Given the description of an element on the screen output the (x, y) to click on. 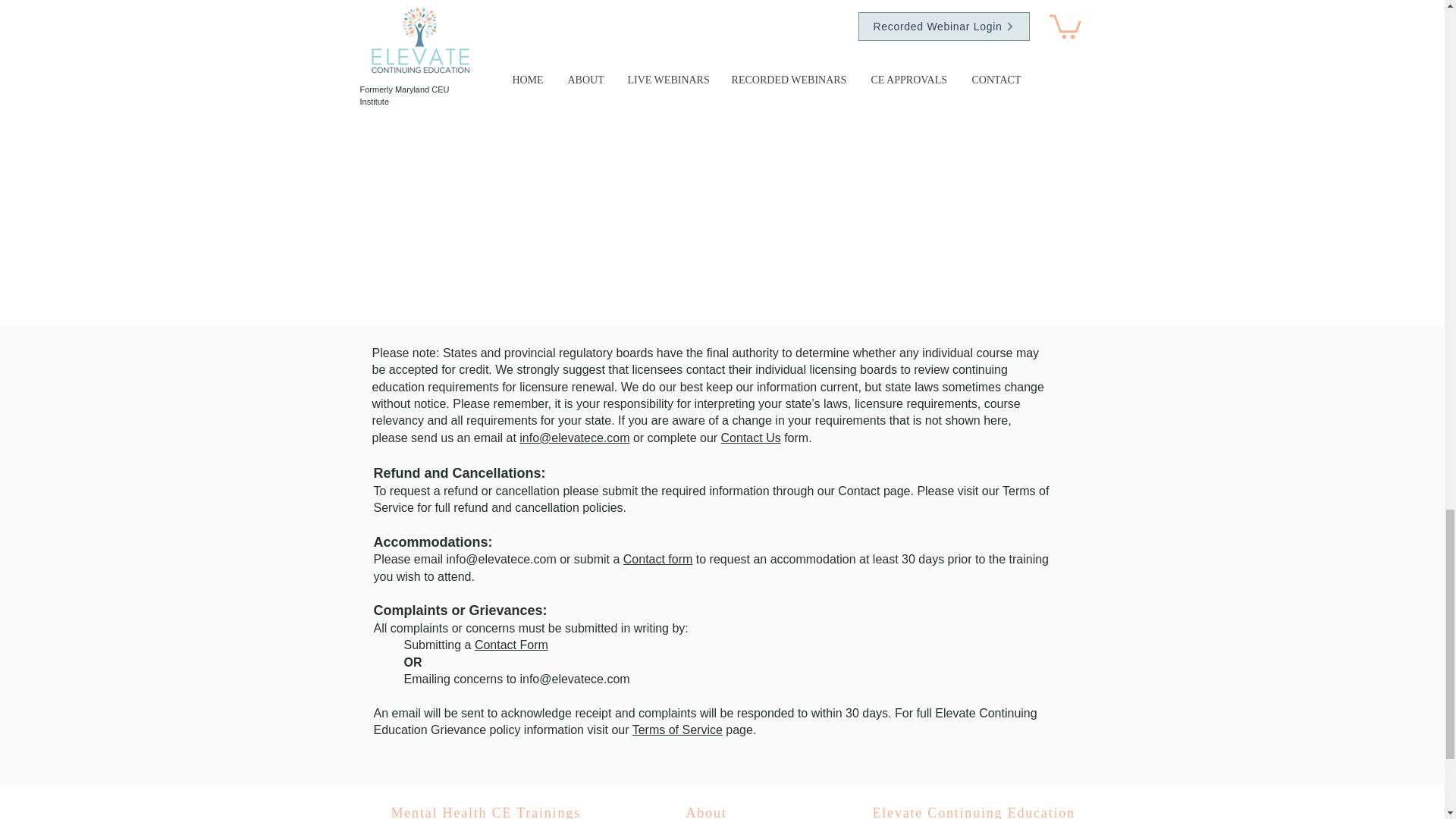
Contact Form (511, 644)
Contact (858, 490)
Contact form (658, 558)
Terms of Service (710, 499)
Terms of Service (676, 729)
Contact Us (750, 437)
About (705, 812)
